Given the description of an element on the screen output the (x, y) to click on. 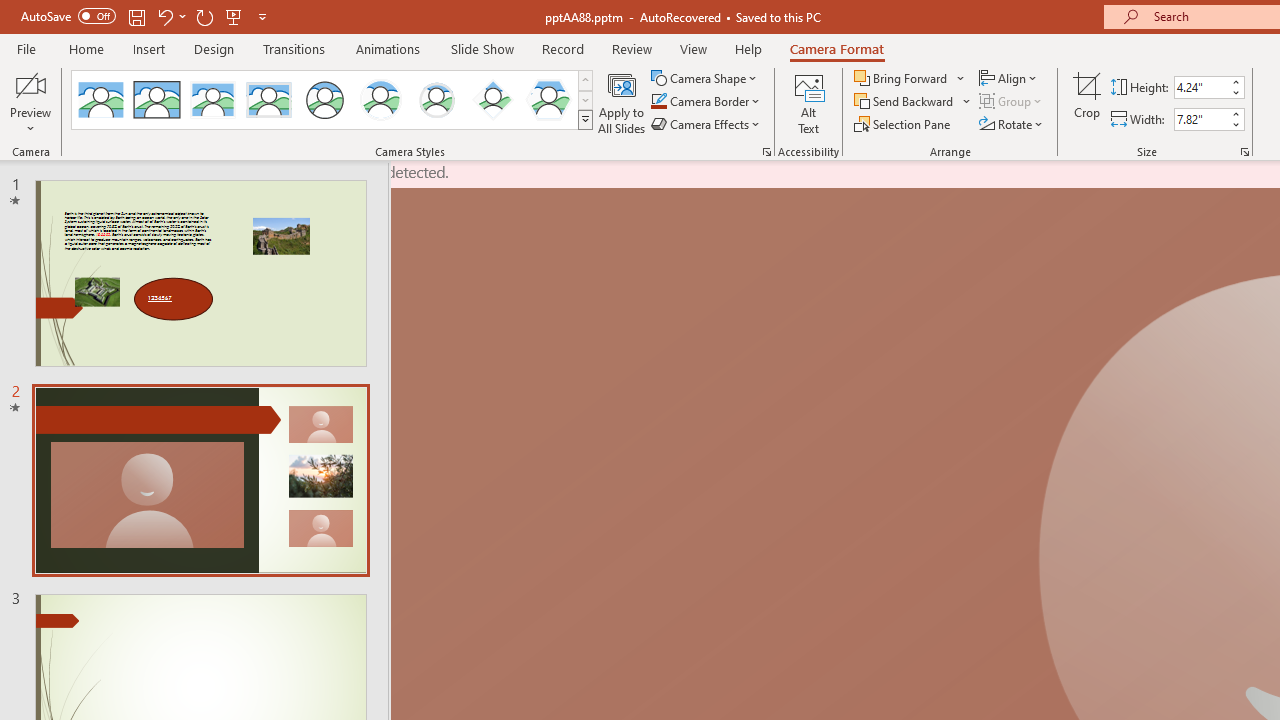
Center Shadow Rectangle (212, 100)
Apply to All Slides (621, 102)
Simple Frame Rectangle (157, 100)
Cameo Height (1201, 87)
Selection Pane... (904, 124)
Center Shadow Circle (381, 100)
Camera Styles (585, 120)
Camera Shape (705, 78)
